Given the description of an element on the screen output the (x, y) to click on. 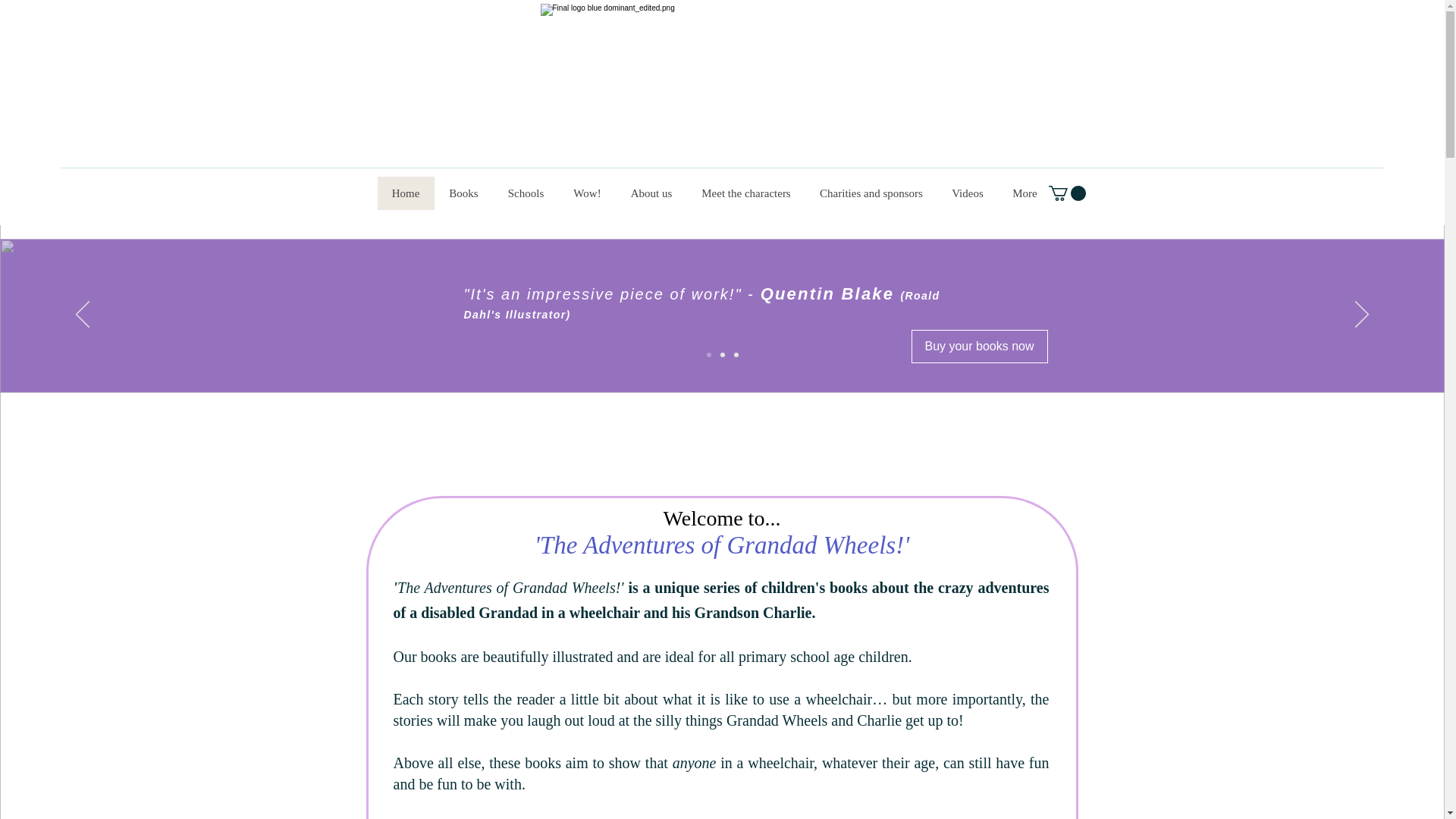
Wow! (585, 192)
Buy your books now (979, 346)
Meet the characters (746, 192)
Books (462, 192)
Home (405, 192)
Schools (526, 192)
Charities and sponsors (871, 192)
Videos (967, 192)
About us (651, 192)
